Given the description of an element on the screen output the (x, y) to click on. 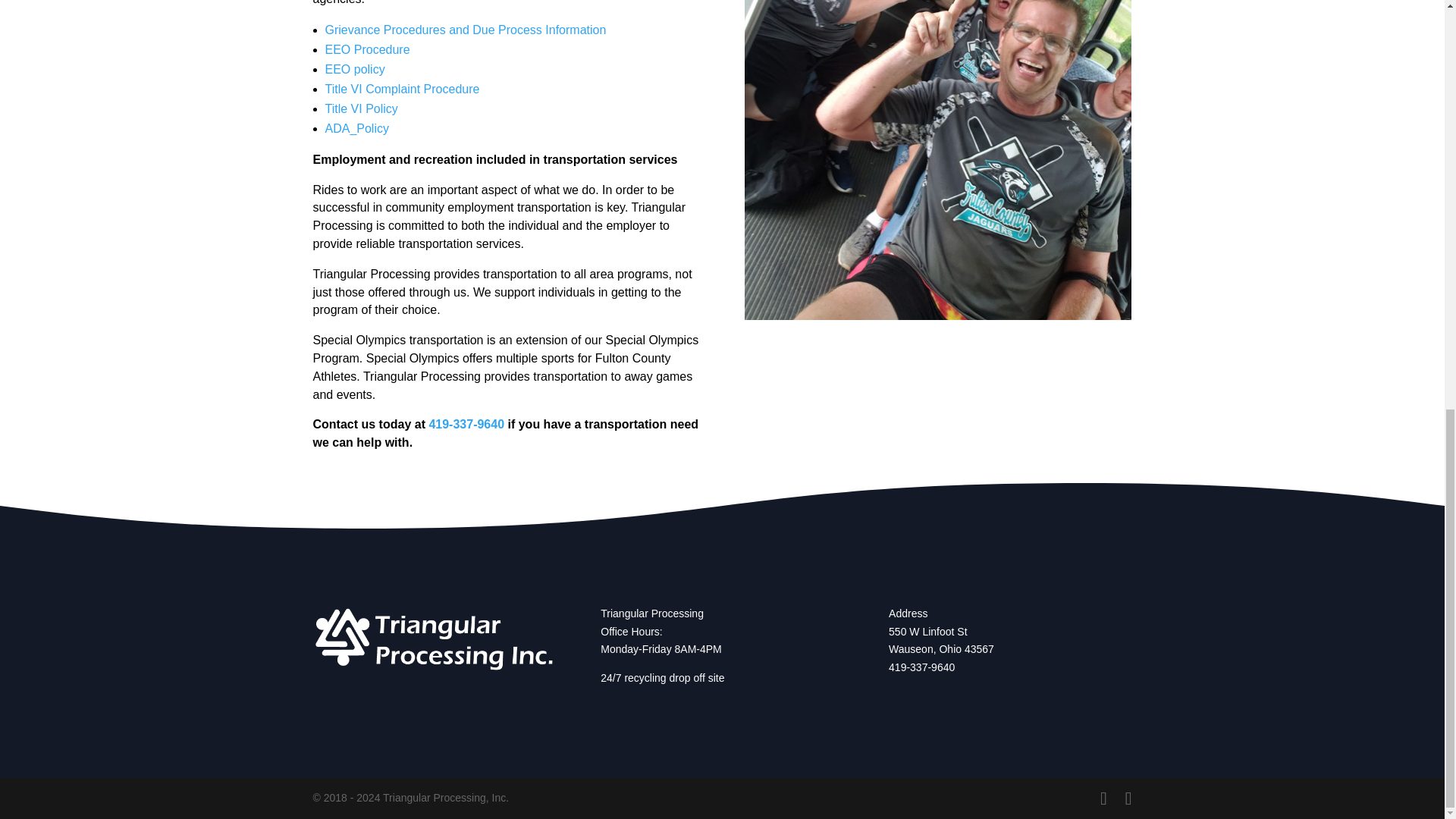
419-337-9640 (465, 423)
419-337-9640 (921, 666)
EEO policy (354, 69)
Title VI Complaint Procedure (401, 88)
Grievance Procedures and Due Process Information (464, 29)
Title VI Policy (360, 108)
EEO Procedure (366, 49)
